Given the description of an element on the screen output the (x, y) to click on. 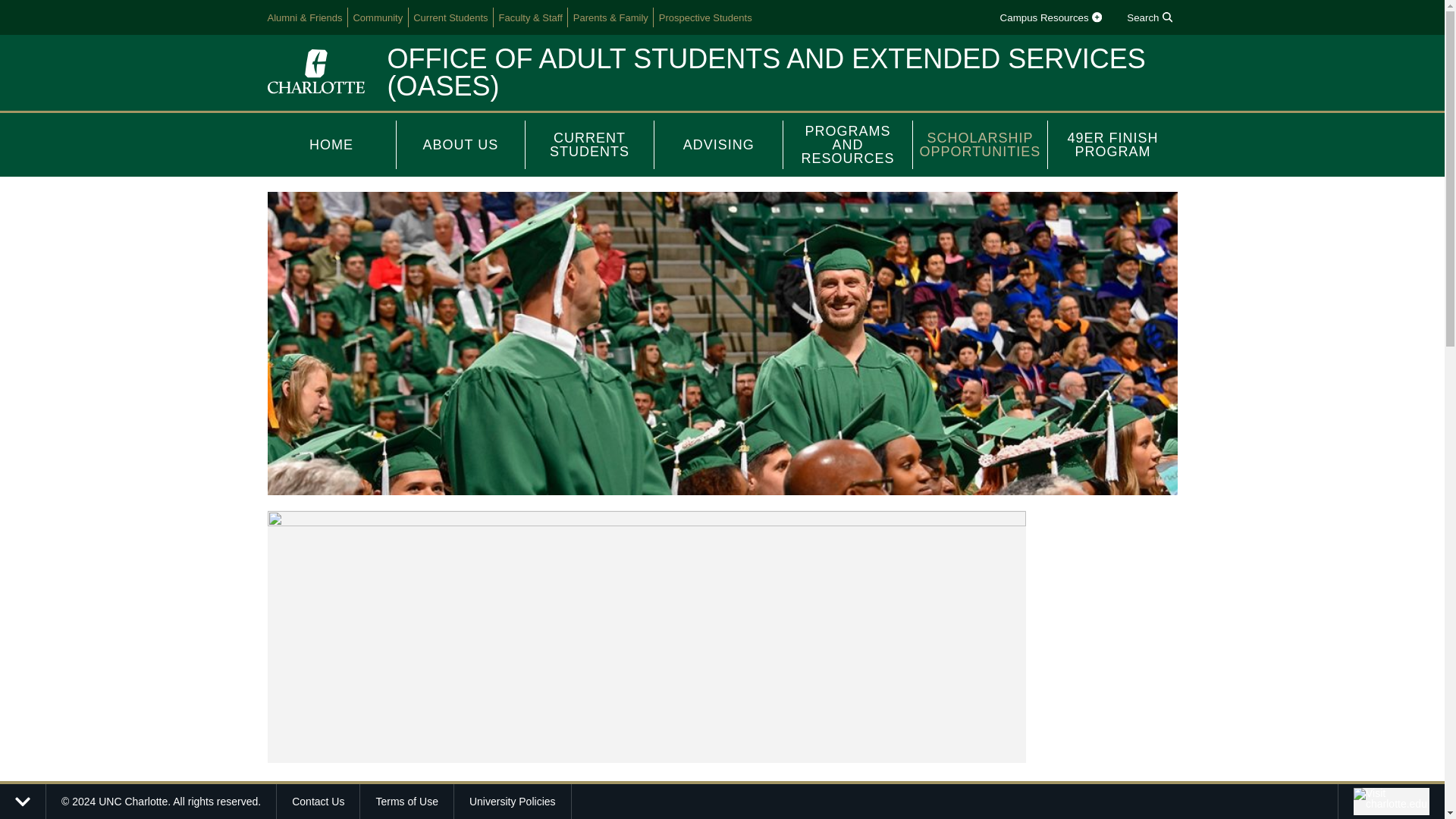
ABOUT US (460, 144)
Community (378, 17)
Search (1149, 16)
Campus Resources (1050, 16)
HOME (331, 144)
Prospective Students (705, 17)
Current Students (451, 17)
